Given the description of an element on the screen output the (x, y) to click on. 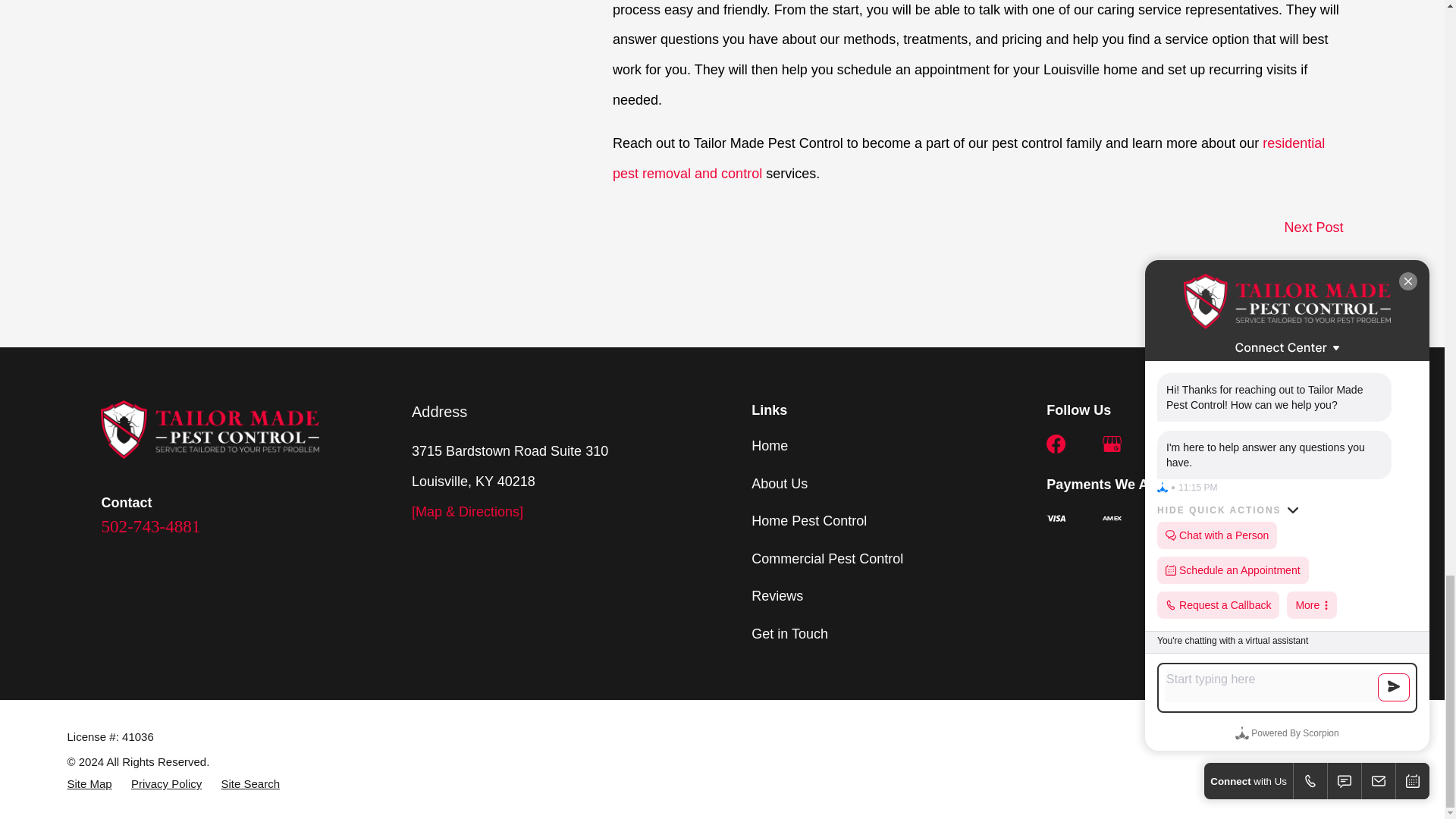
YouTube (1221, 443)
Nextdoor (1166, 443)
Facebook (1055, 443)
Home (209, 429)
Google Business Profile (1111, 443)
